Given the description of an element on the screen output the (x, y) to click on. 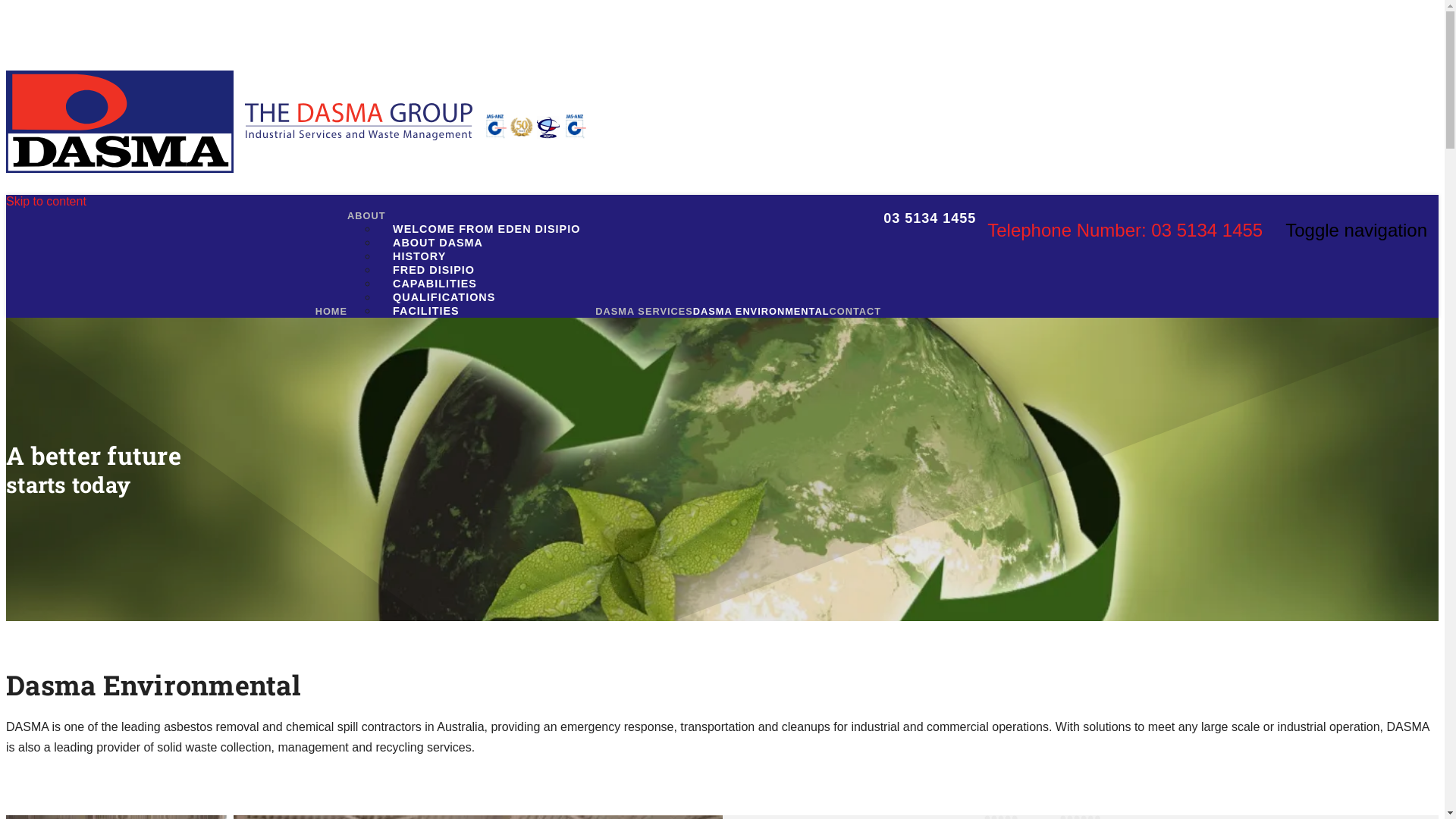
CAPABILITIES Element type: text (434, 283)
WELCOME FROM EDEN DISIPIO Element type: text (486, 228)
home Element type: hover (358, 123)
DASMA SERVICES Element type: text (644, 310)
DASMA ENVIRONMENTAL Element type: text (761, 310)
HISTORY Element type: text (419, 255)
CONTACT Element type: text (855, 310)
Toggle navigation Element type: text (1356, 230)
ABOUT Element type: text (366, 215)
Telephone Number: 03 5134 1455 Element type: text (1124, 229)
QUALIFICATIONS Element type: text (443, 296)
home Element type: hover (119, 122)
HOME Element type: text (331, 310)
ABOUT DASMA Element type: text (437, 242)
FRED DISIPIO Element type: text (433, 269)
03 5134 1455 Element type: text (928, 216)
FACILITIES Element type: text (425, 310)
Skip to content Element type: text (46, 200)
